Given the description of an element on the screen output the (x, y) to click on. 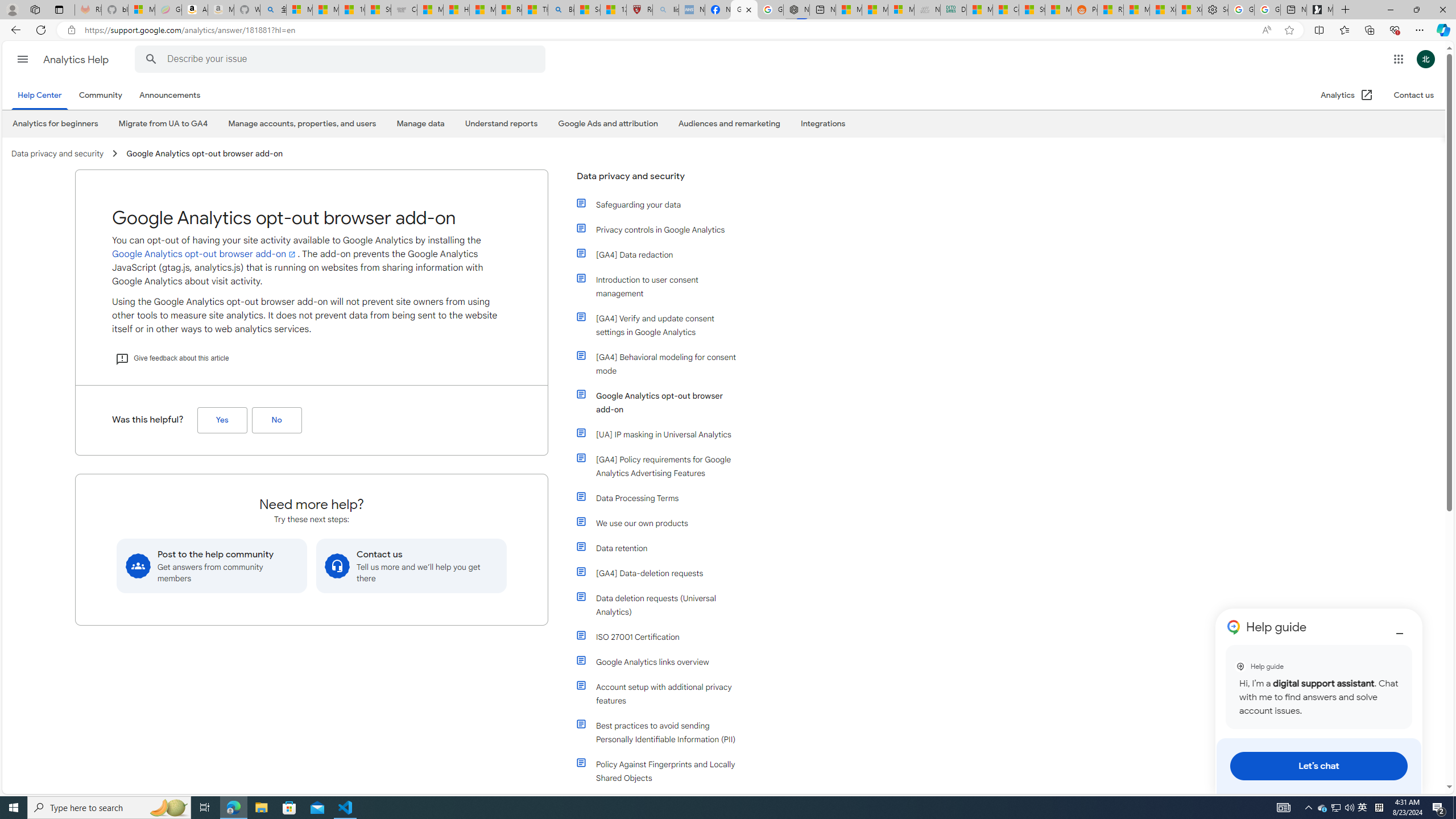
Data retention (658, 548)
Data privacy and security (658, 180)
Analytics Help (76, 59)
12 Popular Science Lies that Must be Corrected (613, 9)
Google Analytics opt-out browser add-on (664, 402)
Class: article (580, 762)
Manage accounts, properties, and users (302, 123)
Analytics for beginners (56, 123)
Class: gb_E (1398, 59)
Science - MSN (587, 9)
Google Analytics opt-out browser add-on (658, 402)
Contact us (1413, 95)
